Given the description of an element on the screen output the (x, y) to click on. 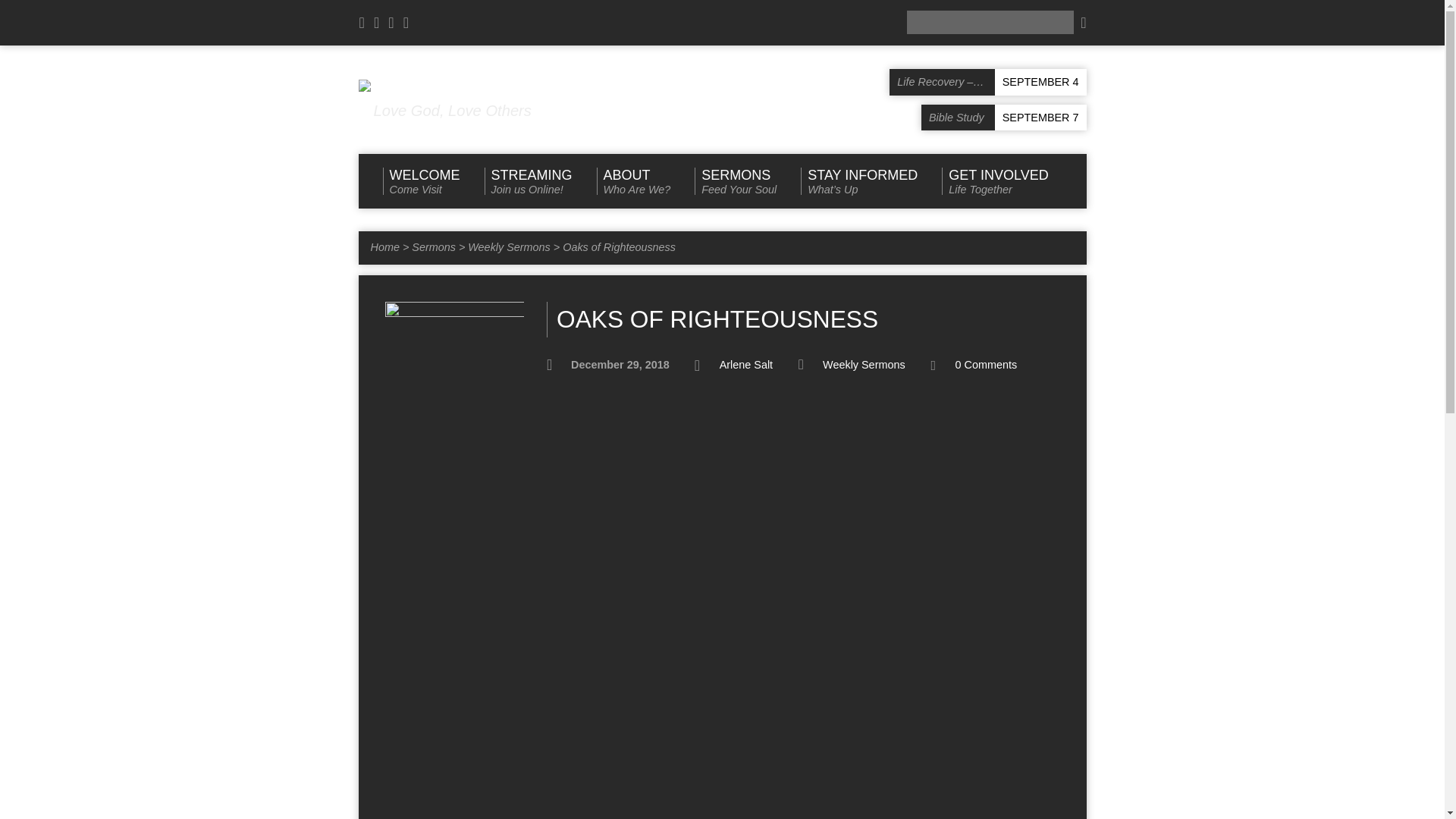
Who Are We? (633, 180)
Bible Study SEPTEMBER 7 (528, 180)
Bible Study (1003, 117)
0 Comments (1003, 117)
Feed Your Soul (986, 364)
Come Visit (735, 180)
Sermons (420, 180)
Oaks of Righteousness (433, 246)
